Given the description of an element on the screen output the (x, y) to click on. 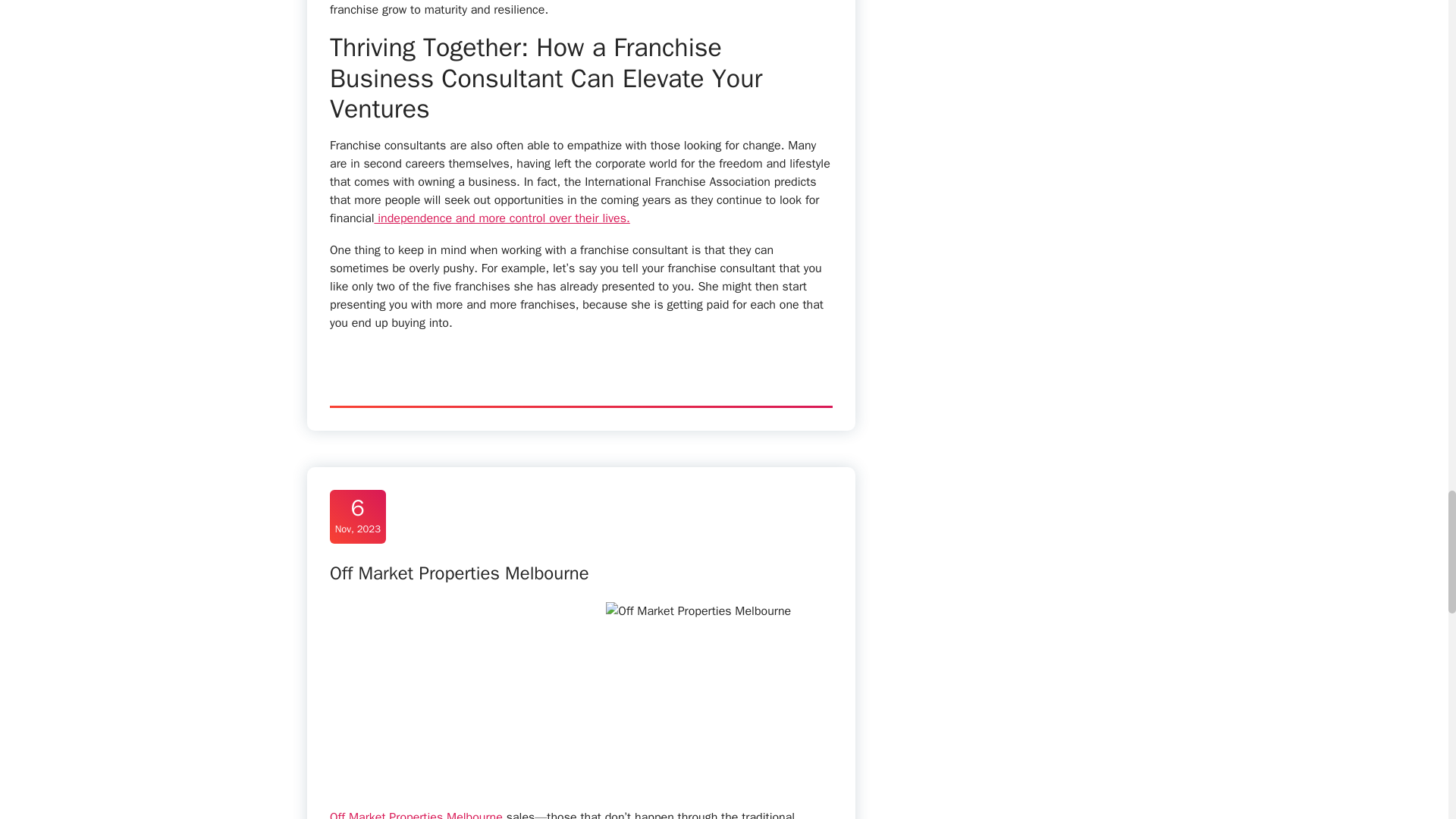
Off Market Properties Melbourne (416, 814)
independence and more control over their lives. (501, 218)
Off Market Properties Melbourne (459, 572)
